Given the description of an element on the screen output the (x, y) to click on. 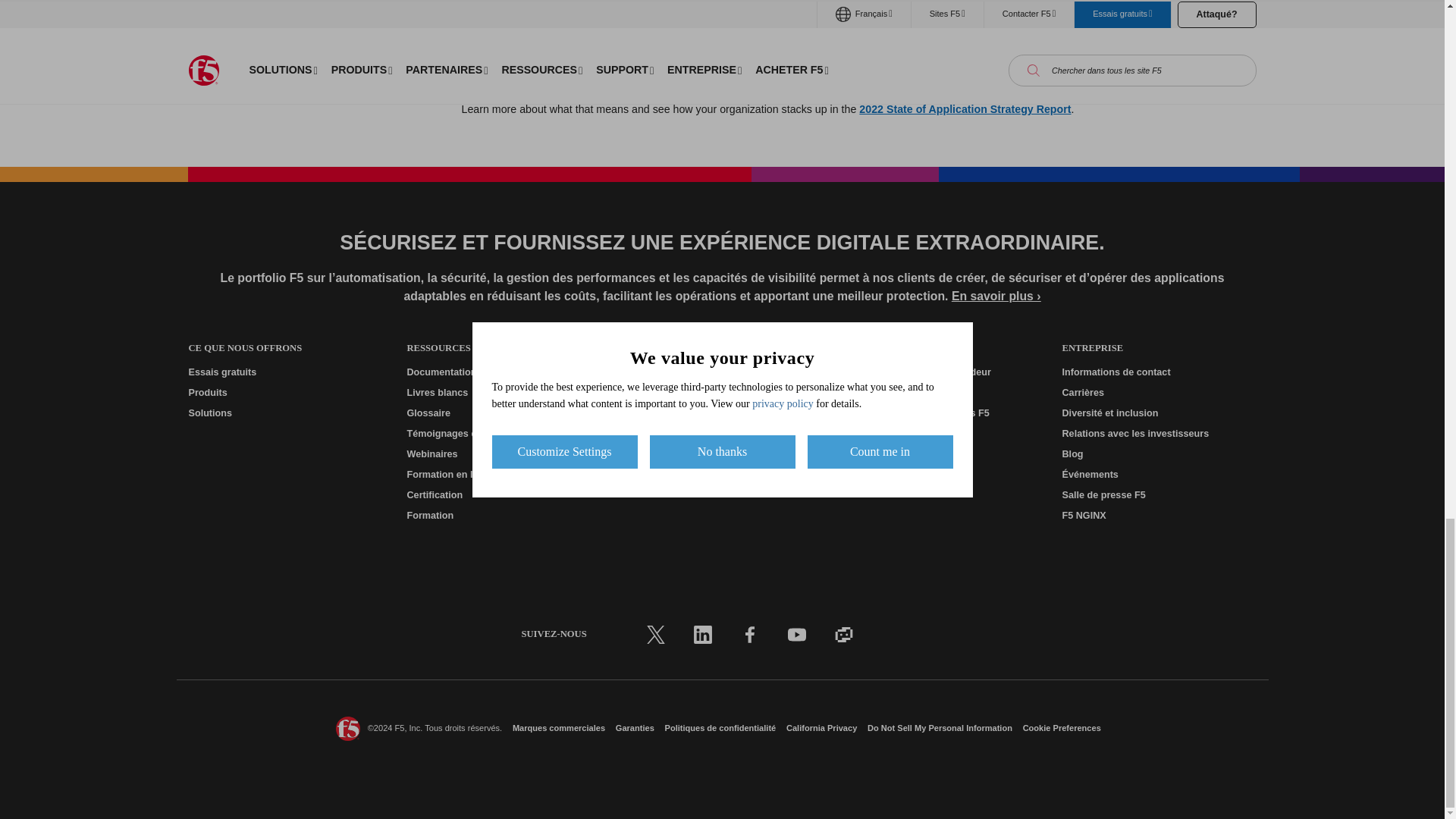
Essais gratuits (284, 372)
Livres blancs (502, 392)
Produits (284, 392)
Solutions (284, 413)
Formation en ligne gratuite (502, 474)
Certification (502, 495)
Webinaires (502, 454)
2022 State of Application Strategy Report (964, 109)
Formation (502, 515)
Documentation produit (502, 372)
